Given the description of an element on the screen output the (x, y) to click on. 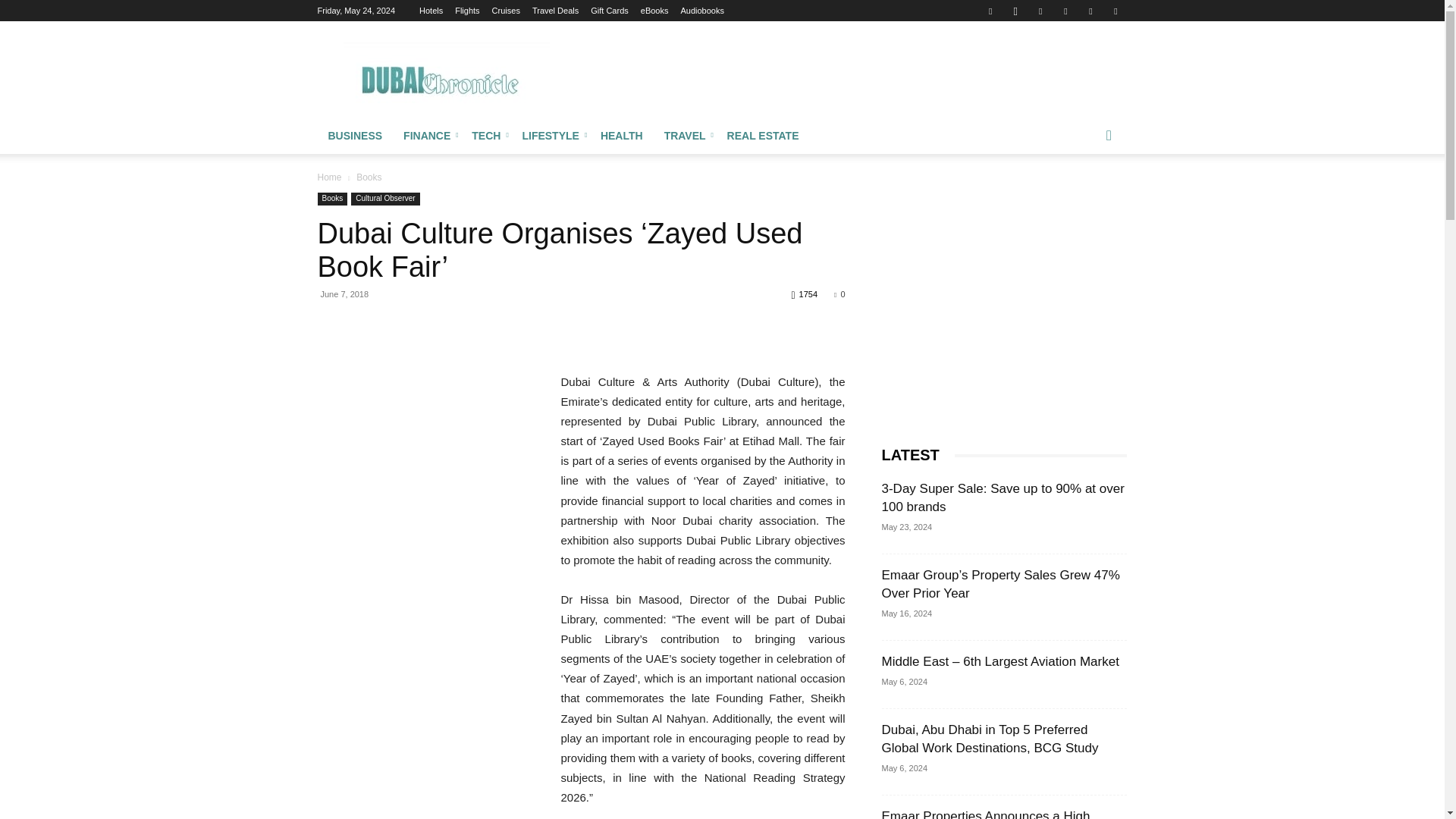
Facebook (989, 10)
RSS (1065, 10)
Pinterest (1040, 10)
Instagram (1015, 10)
Twitter (1090, 10)
Youtube (1114, 10)
